Given the description of an element on the screen output the (x, y) to click on. 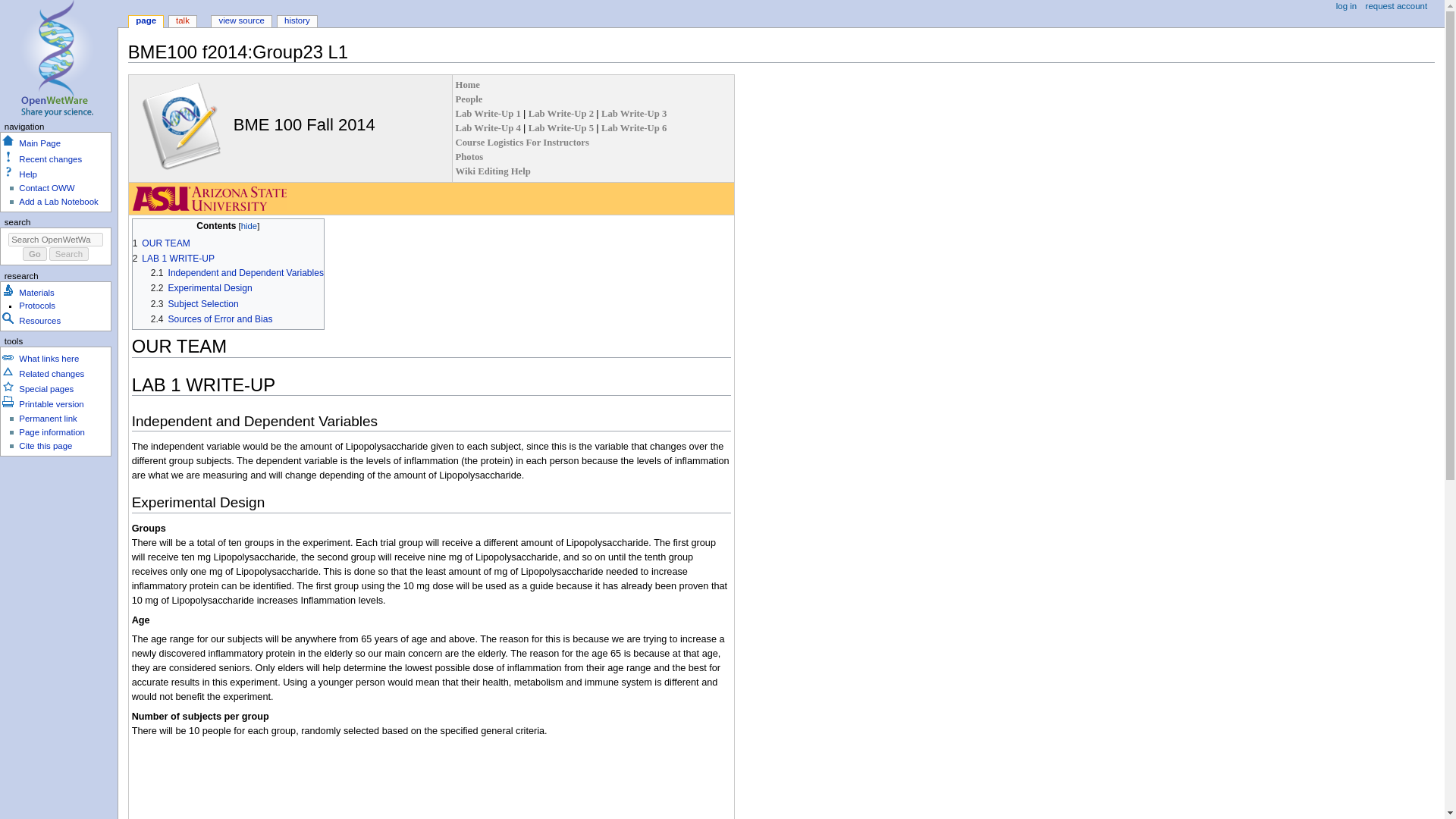
BME100 f2014:Projects1 (488, 113)
Lab Write-Up 3 (633, 113)
Photos (469, 156)
log in (1346, 6)
2.3 Subject Selection (194, 303)
Lab Write-Up 6 (633, 127)
BME100 f2014:Photos (469, 156)
page (146, 21)
BME100 f2014:Projects6 (633, 127)
